Given the description of an element on the screen output the (x, y) to click on. 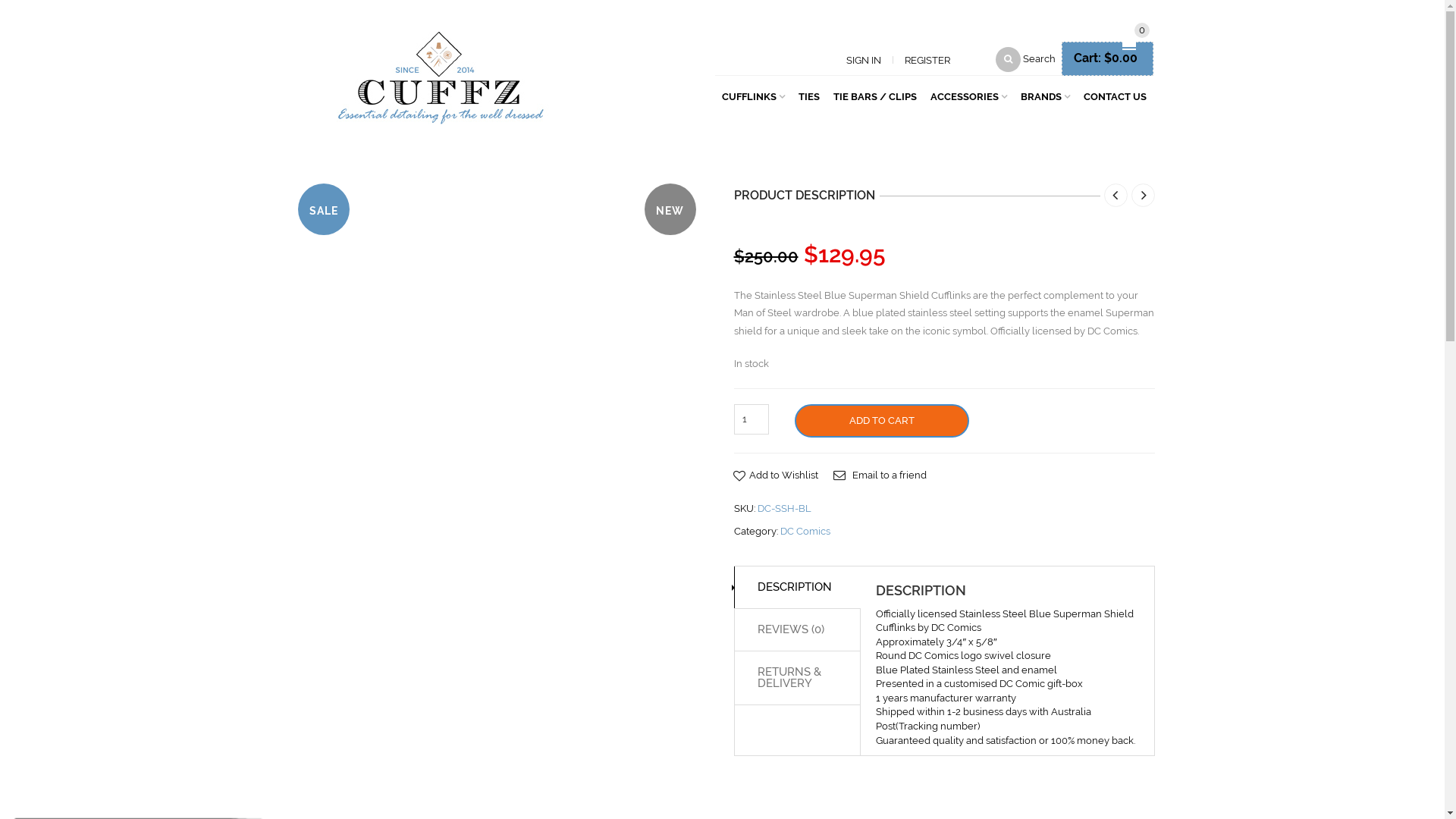
Blue Plated Stainless Steel and enamel Element type: text (966, 669)
Add to Wishlist Element type: text (776, 474)
REVIEWS (0) Element type: text (797, 629)
1 years manufacturer warranty Element type: text (945, 697)
DC Comics Element type: text (804, 530)
ADD TO CART Element type: text (881, 420)
Presented in a customised DC Comic gift-box Element type: text (978, 683)
RETURNS & DELIVERY Element type: text (797, 678)
Round DC Comics logo swivel closure Element type: text (963, 655)
Qty Element type: hover (751, 419)
Search Element type: text (1025, 58)
ACCESSORIES Element type: text (968, 94)
BRANDS Element type: text (1044, 94)
Email to a friend Element type: text (878, 474)
Login Element type: text (846, 269)
TIES Element type: text (808, 94)
Guaranteed quality and satisfaction or 100% money back. Element type: text (1005, 740)
CONTACT US Element type: text (1114, 94)
CUFFLINKS Element type: text (753, 94)
SIGN IN Element type: text (863, 59)
REGISTER Element type: text (927, 59)
DESCRIPTION Element type: text (797, 587)
TIE BARS / CLIPS Element type: text (874, 94)
